Given the description of an element on the screen output the (x, y) to click on. 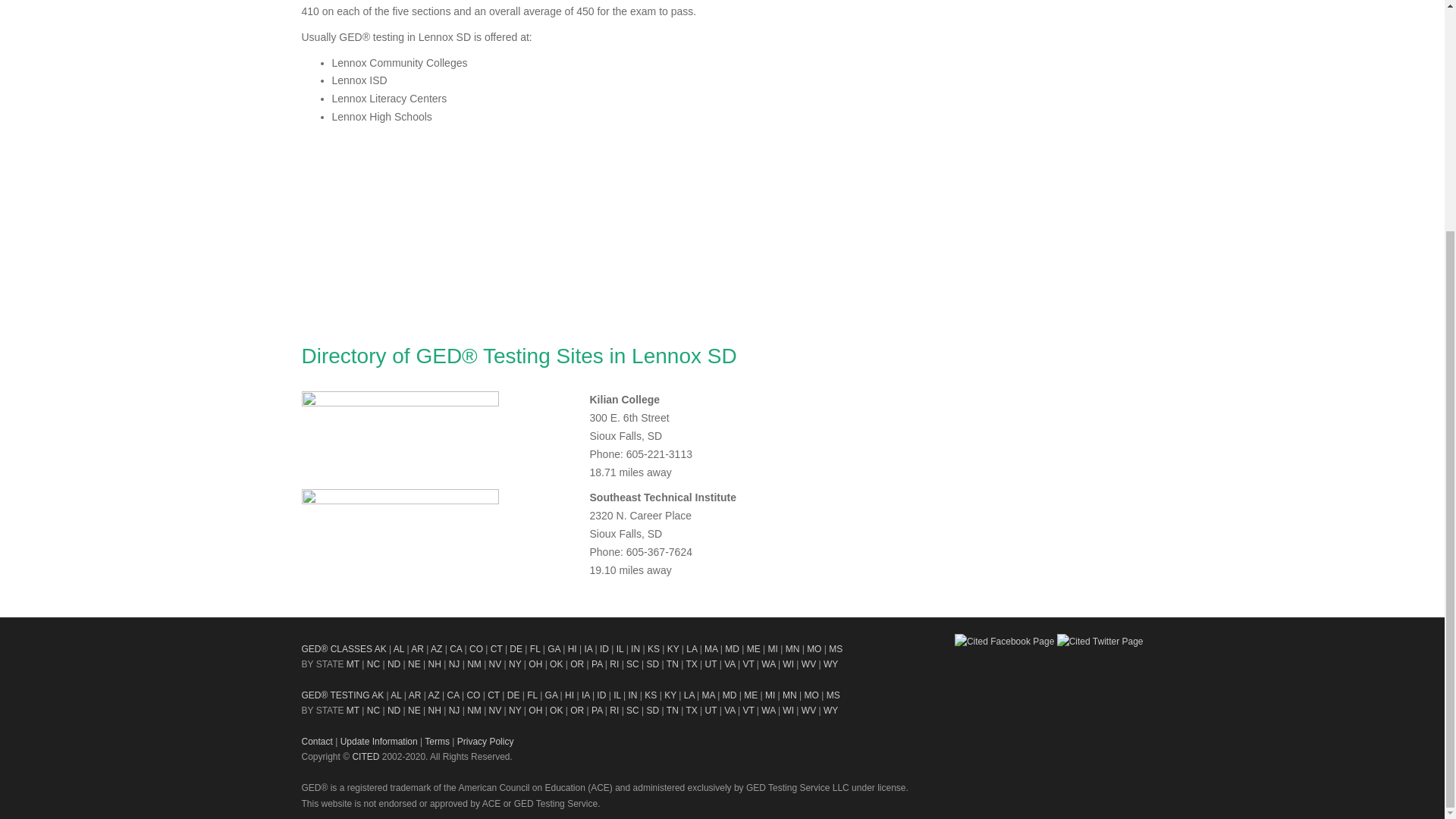
CO (475, 648)
NE (413, 664)
MO (813, 648)
MN (792, 648)
Cited Facebook Page (1004, 641)
LA (691, 648)
ID (603, 648)
NH (434, 664)
AL (398, 648)
ND (393, 664)
AR (416, 648)
AK (380, 648)
CT (496, 648)
FL (534, 648)
NJ (454, 664)
